Given the description of an element on the screen output the (x, y) to click on. 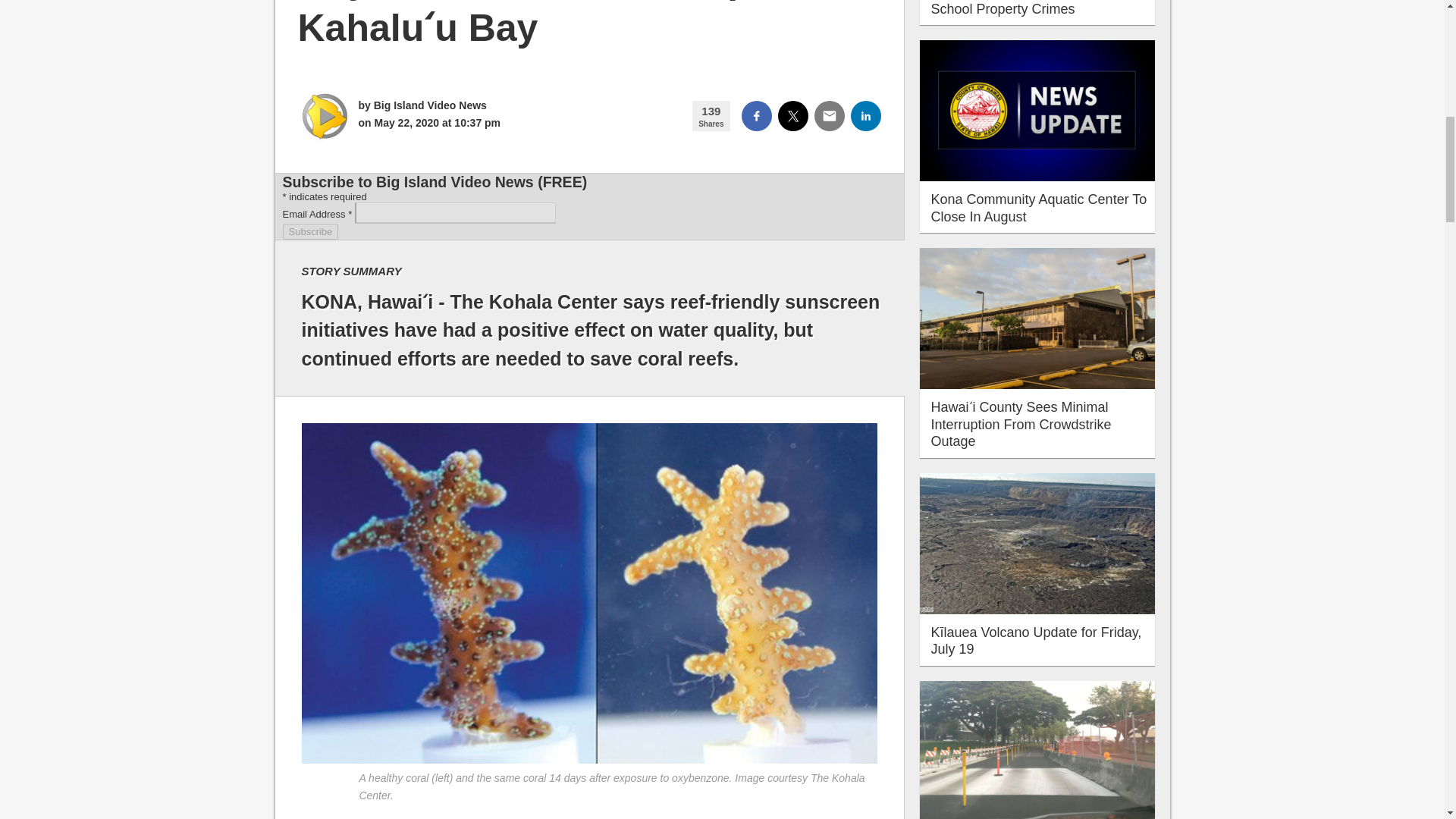
Kona Community Aquatic Center To Close In August (1039, 207)
Subscribe (309, 231)
Hilo Juvenile Charged For Waiakea School Property Crimes (1037, 8)
Subscribe (309, 231)
